Given the description of an element on the screen output the (x, y) to click on. 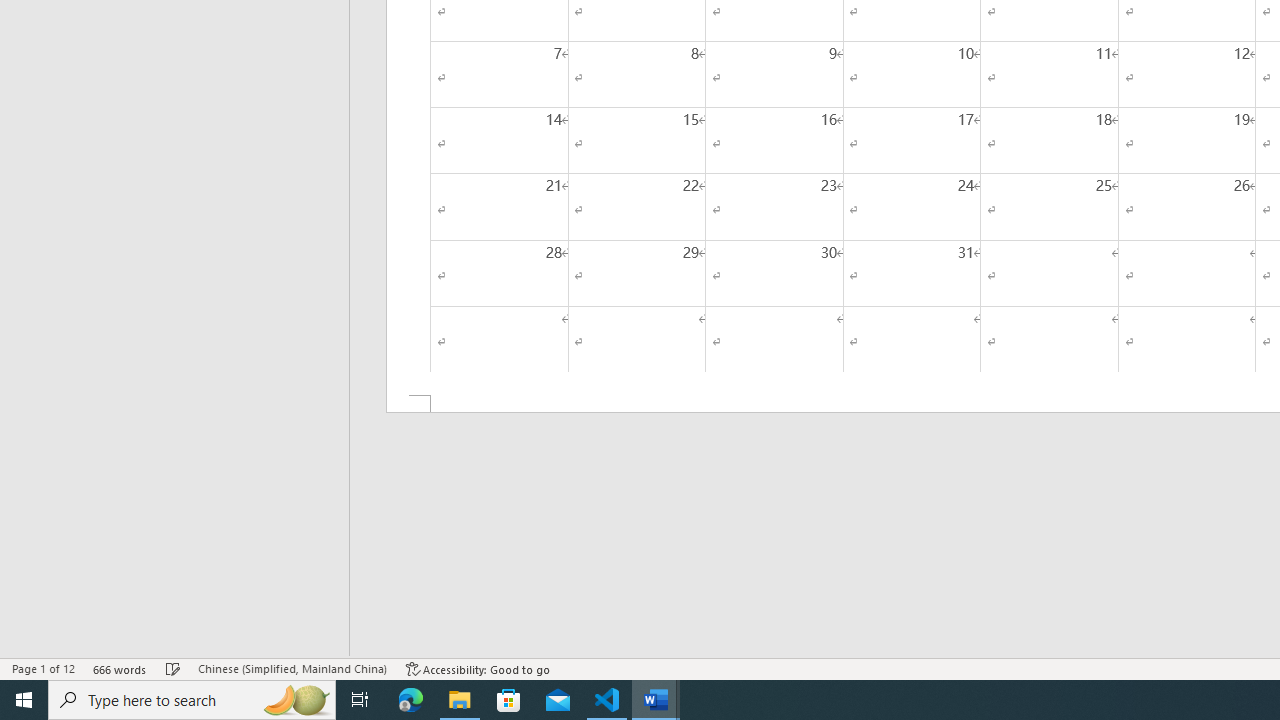
Language Chinese (Simplified, Mainland China) (292, 668)
Page Number Page 1 of 12 (43, 668)
Spelling and Grammar Check Checking (173, 668)
Word Count 666 words (119, 668)
Accessibility Checker Accessibility: Good to go (478, 668)
